Given the description of an element on the screen output the (x, y) to click on. 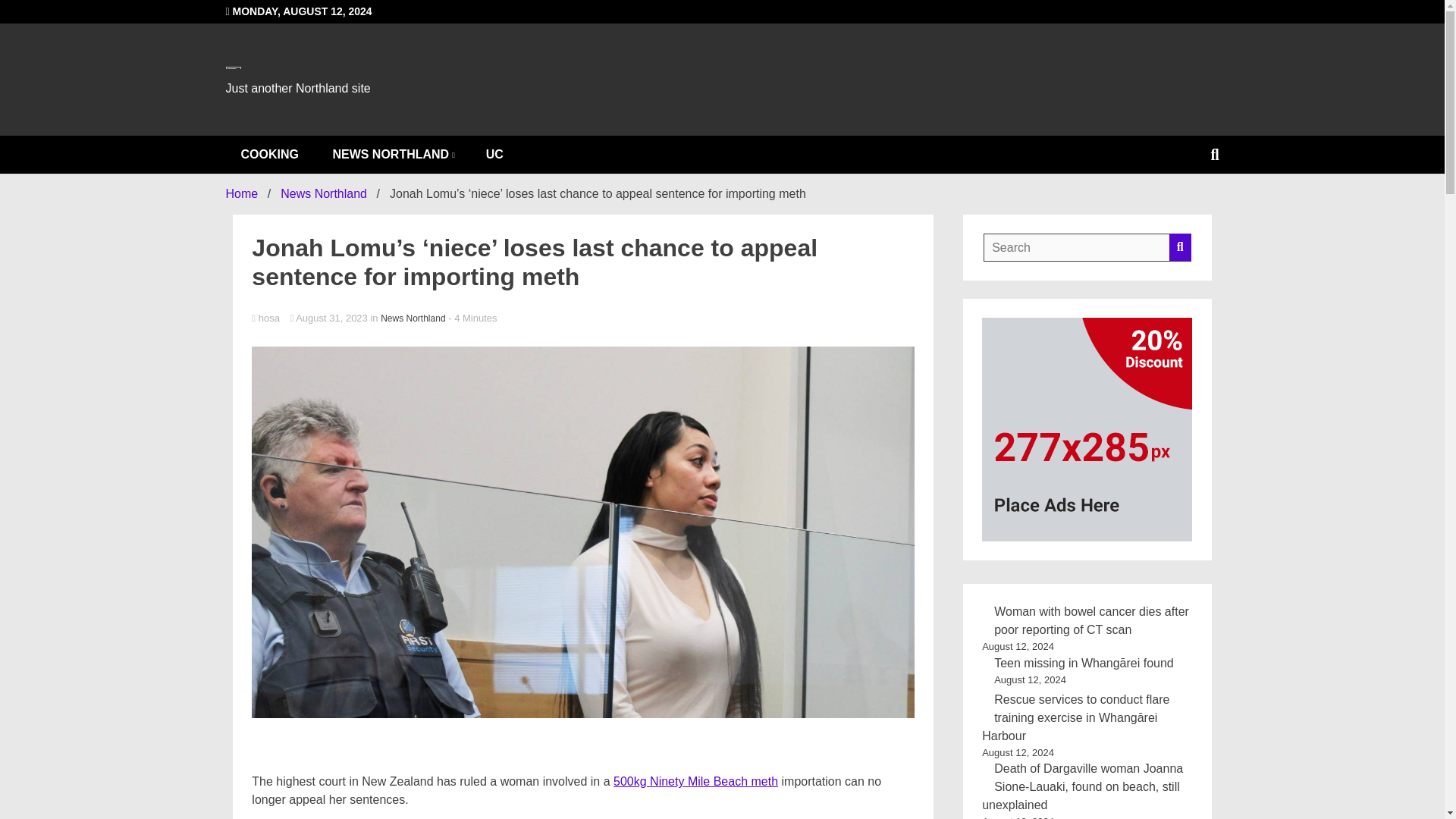
COOKING (269, 154)
hosa (582, 318)
NEWS NORTHLAND (392, 154)
August 31, 2023 (329, 317)
500kg Ninety Mile Beach meth (694, 780)
News Northland (323, 193)
Home (242, 193)
Estimated Reading Time of Article (472, 317)
News Northland (412, 318)
UC (494, 154)
